Given the description of an element on the screen output the (x, y) to click on. 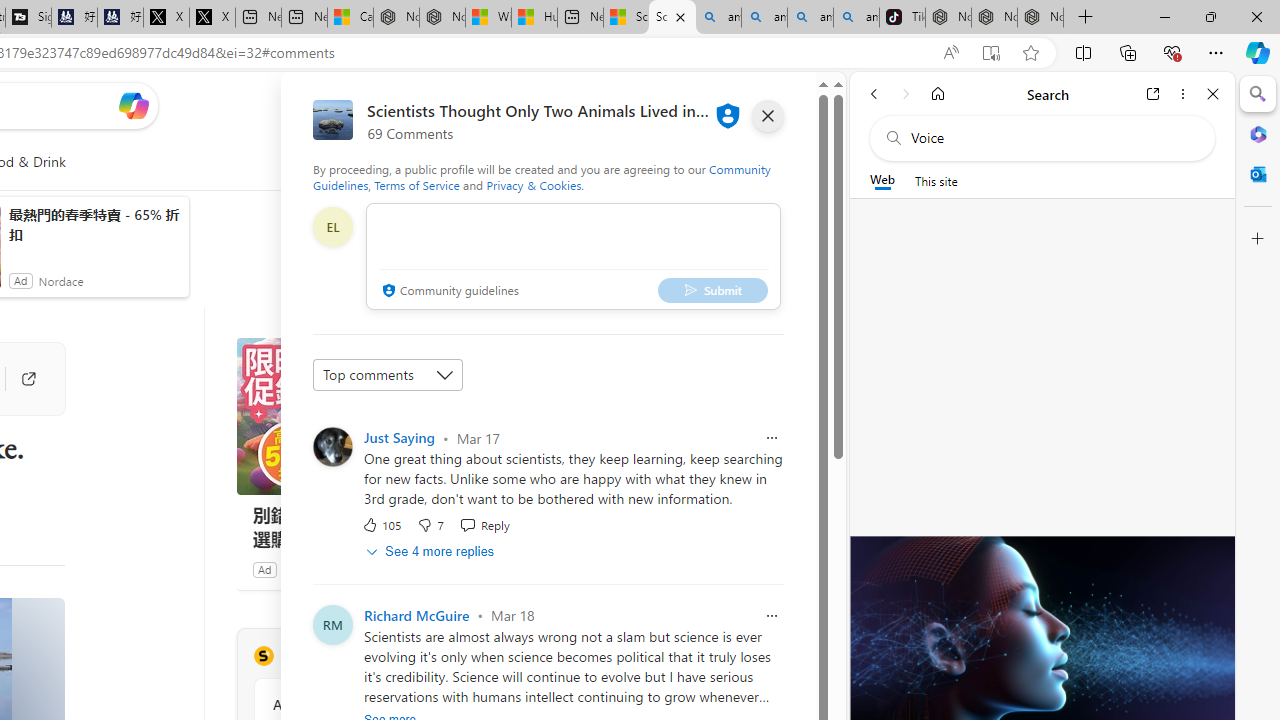
Personalize (488, 162)
Nordace - Siena Pro 15 Essential Set (1040, 17)
Go to publisher's site (18, 378)
Open Copilot (132, 105)
Richard McGuire (416, 614)
Nordace - Summer Adventures 2024 (441, 17)
Ad Choice (514, 569)
Open Copilot (132, 105)
close (767, 115)
Community guidelines (448, 291)
Reply Reply Comment (484, 524)
Minimize (1164, 16)
